Given the description of an element on the screen output the (x, y) to click on. 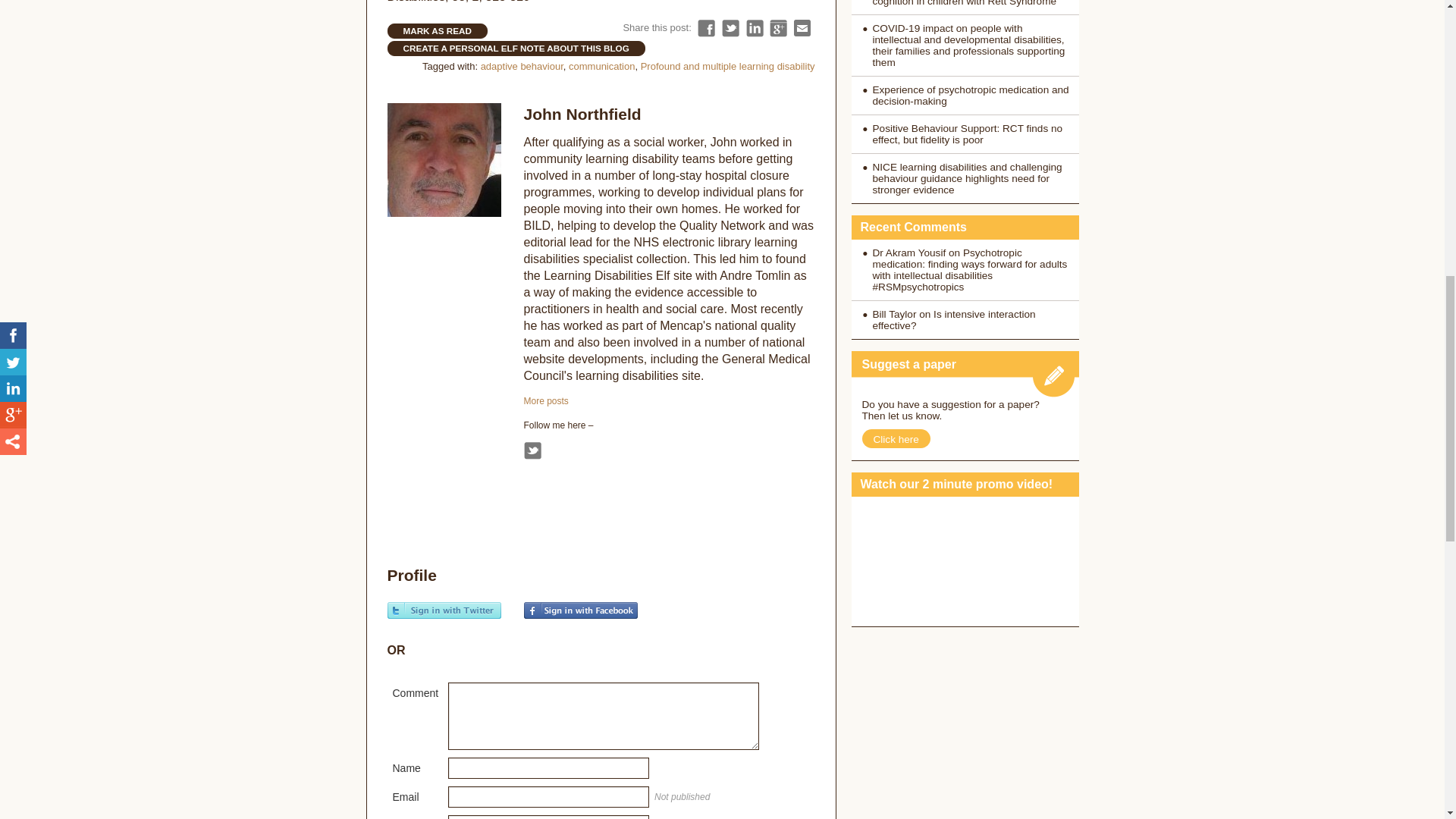
John Northfield (581, 113)
Twitter (531, 450)
John Northfield (544, 400)
Share on Facebook (705, 27)
Share via email (801, 27)
Share on LinkedIn (753, 27)
Tweet this on Twitter (730, 27)
